Given the description of an element on the screen output the (x, y) to click on. 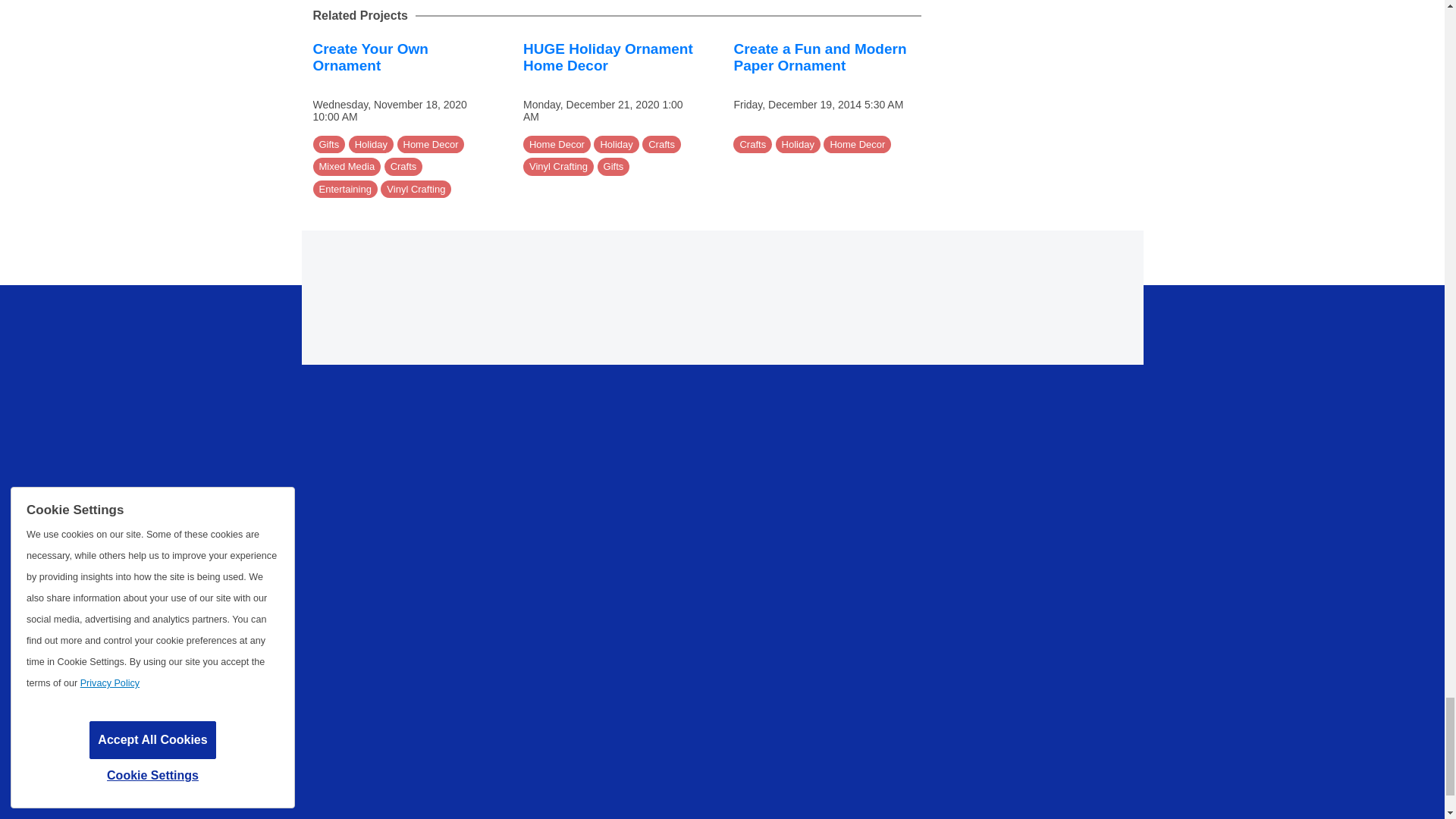
Holiday (371, 144)
Crafts (403, 167)
Home Decor (430, 144)
Gifts (329, 144)
HUGE Holiday Ornament Home Decor (607, 57)
Entertaining (345, 189)
Create Your Own Ornament (370, 57)
Vinyl Crafting (415, 189)
Mixed Media (346, 167)
Home Decor (556, 144)
